Given the description of an element on the screen output the (x, y) to click on. 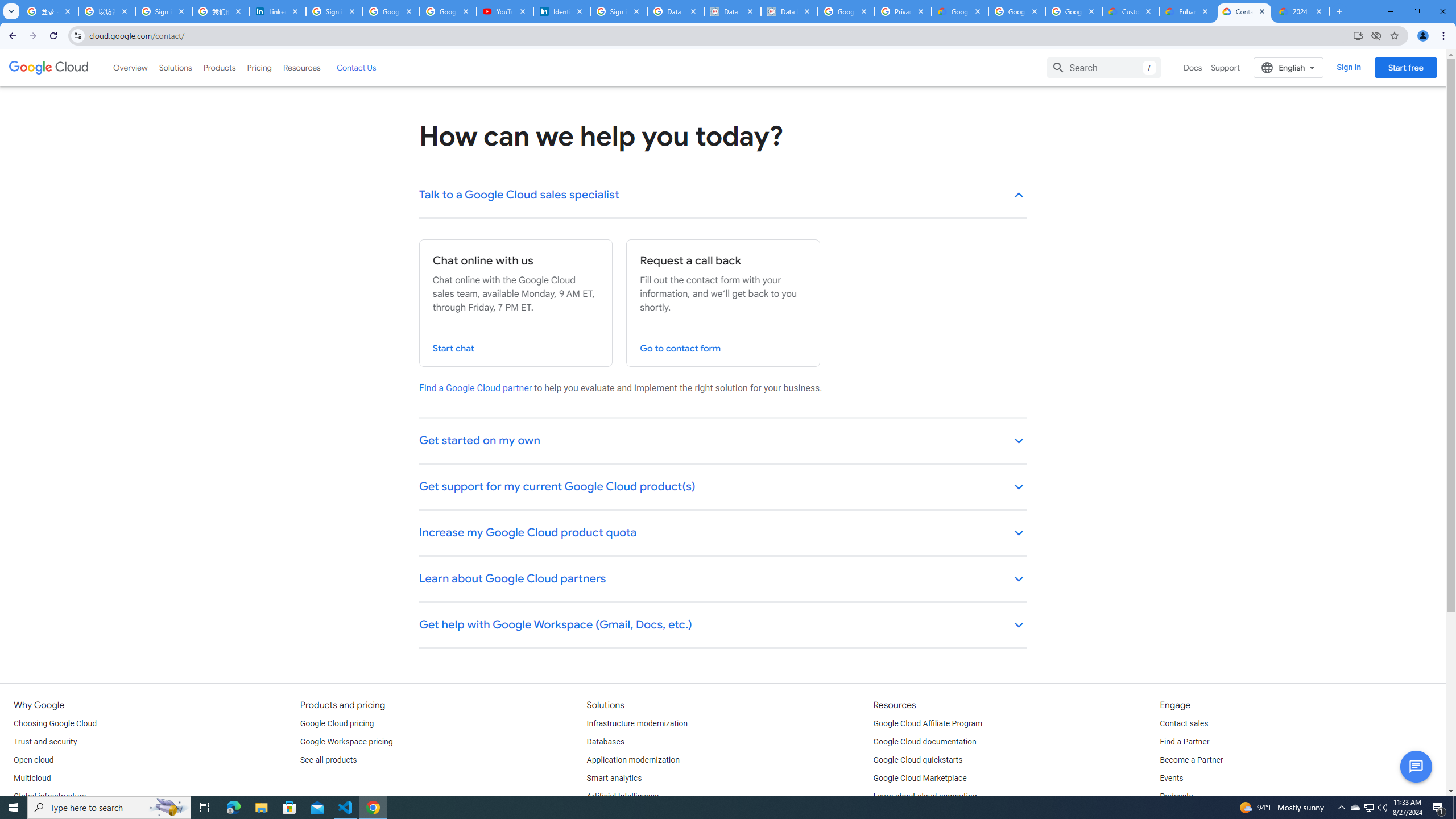
Enhanced Support | Google Cloud (1187, 11)
Choosing Google Cloud (55, 723)
Sign in - Google Accounts (618, 11)
LinkedIn Privacy Policy (277, 11)
Application modernization (632, 760)
Data Privacy Framework (788, 11)
Talk to a Google Cloud sales specialist keyboard_arrow_up (723, 195)
Google Workspace - Specific Terms (1015, 11)
Events (1170, 778)
Multicloud (31, 778)
